Given the description of an element on the screen output the (x, y) to click on. 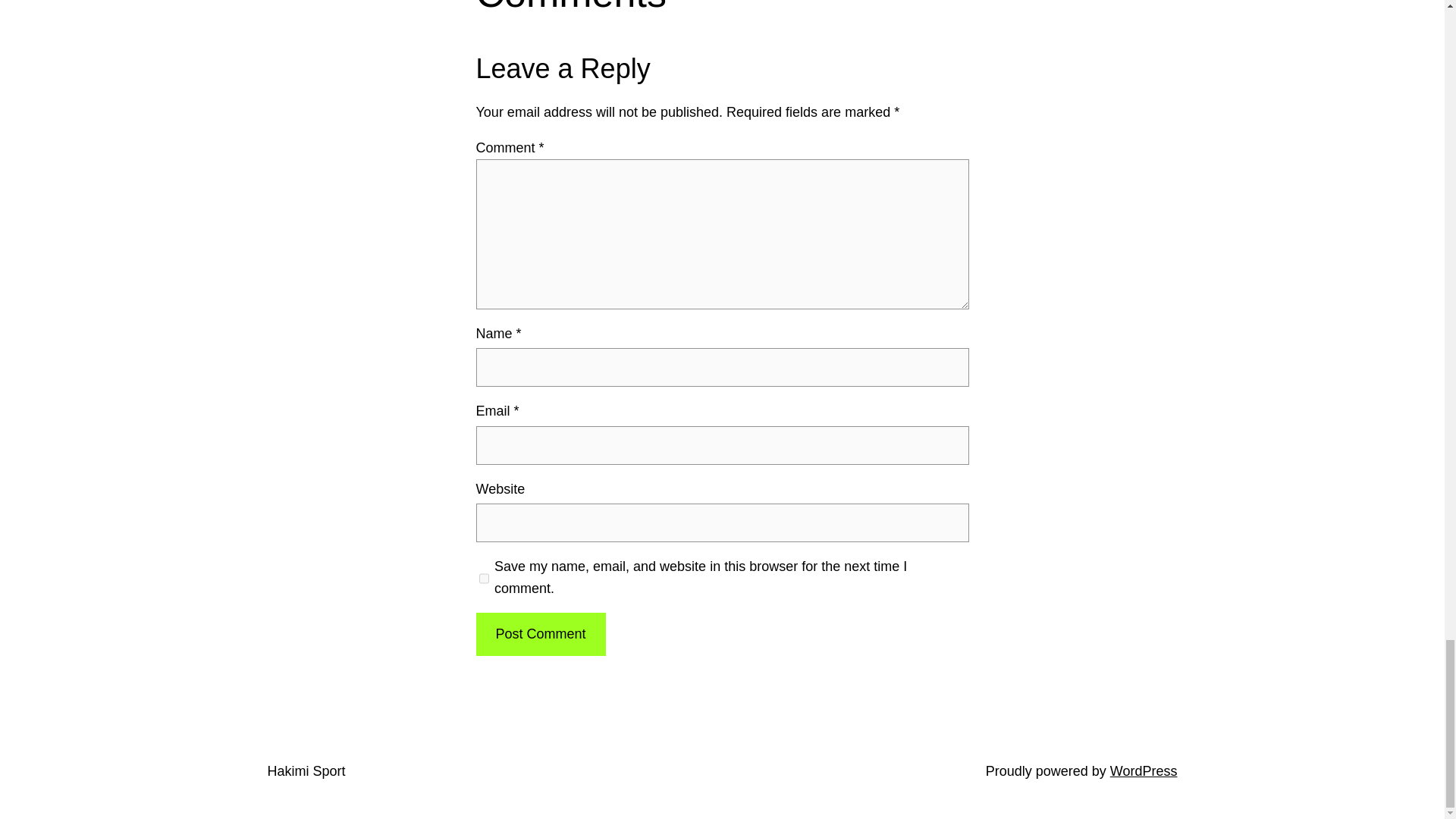
Post Comment (540, 634)
Hakimi Sport (305, 770)
Post Comment (540, 634)
WordPress (1143, 770)
